Given the description of an element on the screen output the (x, y) to click on. 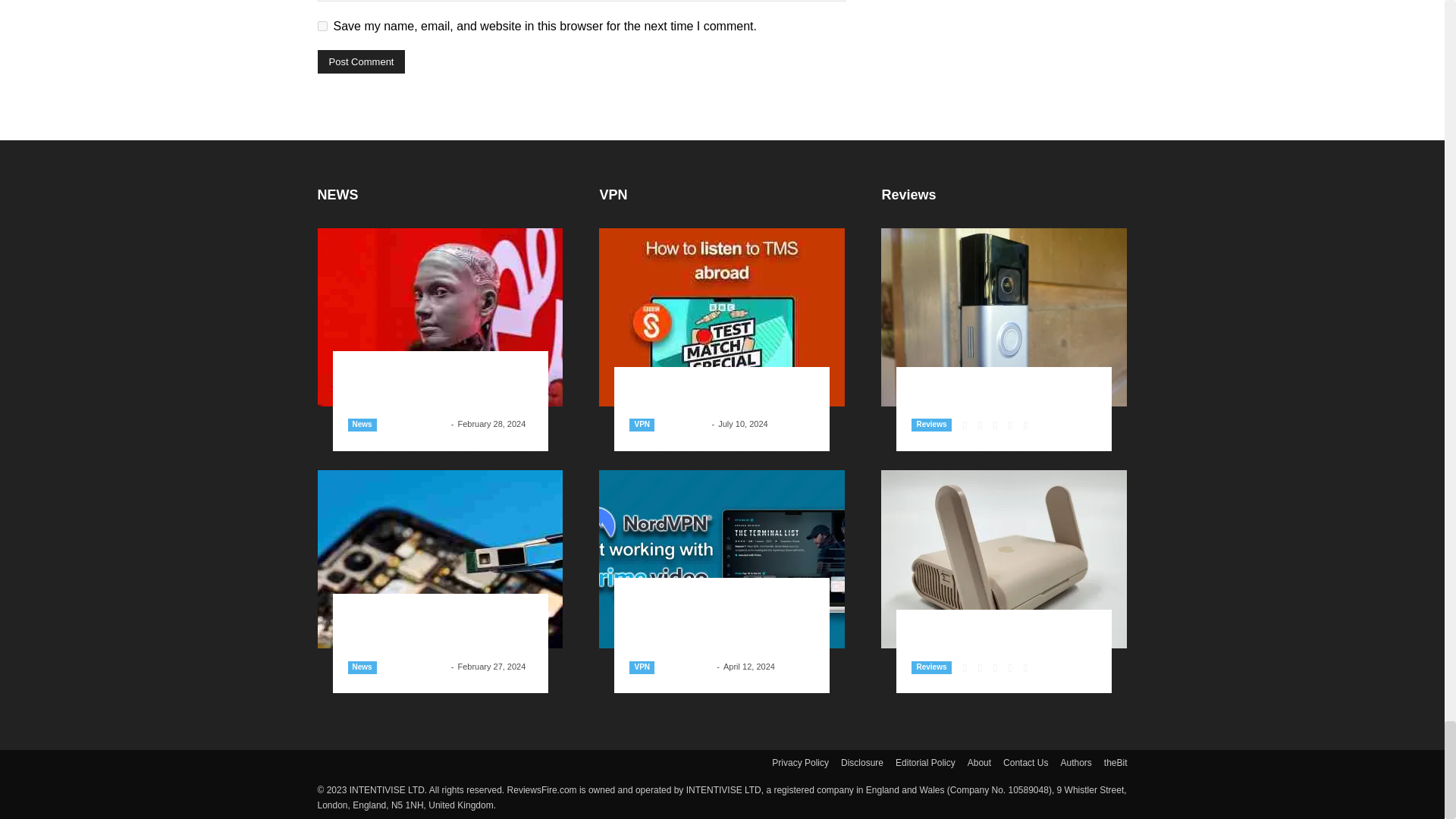
yes (321, 26)
Post Comment (360, 61)
